Given the description of an element on the screen output the (x, y) to click on. 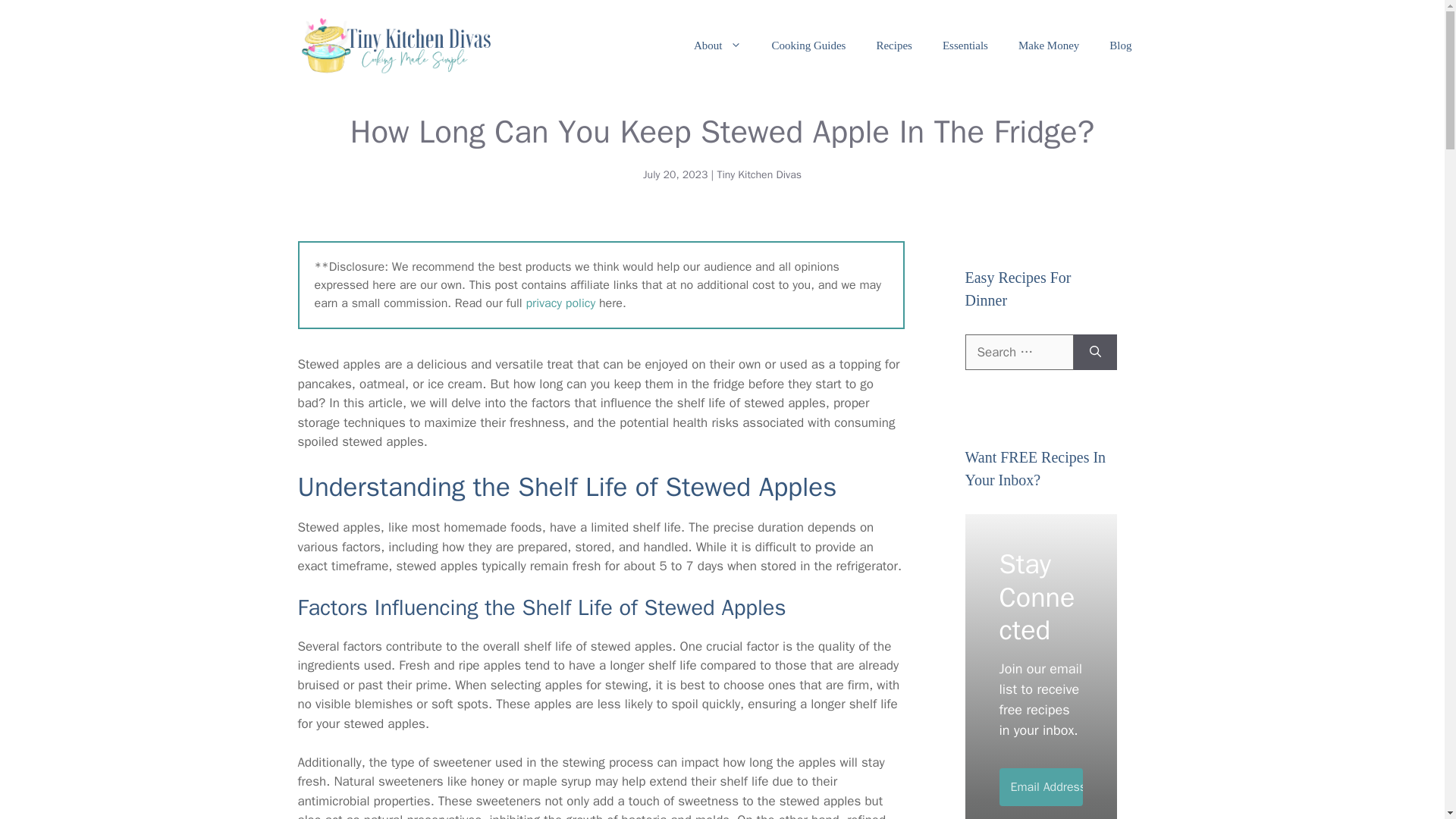
View all posts by Tiny Kitchen Divas (759, 174)
Search for: (1018, 352)
Make Money (1048, 44)
Recipes (893, 44)
privacy policy (560, 303)
Cooking Guides (809, 44)
Essentials (965, 44)
Blog (1120, 44)
About (717, 44)
Tiny Kitchen Divas (759, 174)
